Given the description of an element on the screen output the (x, y) to click on. 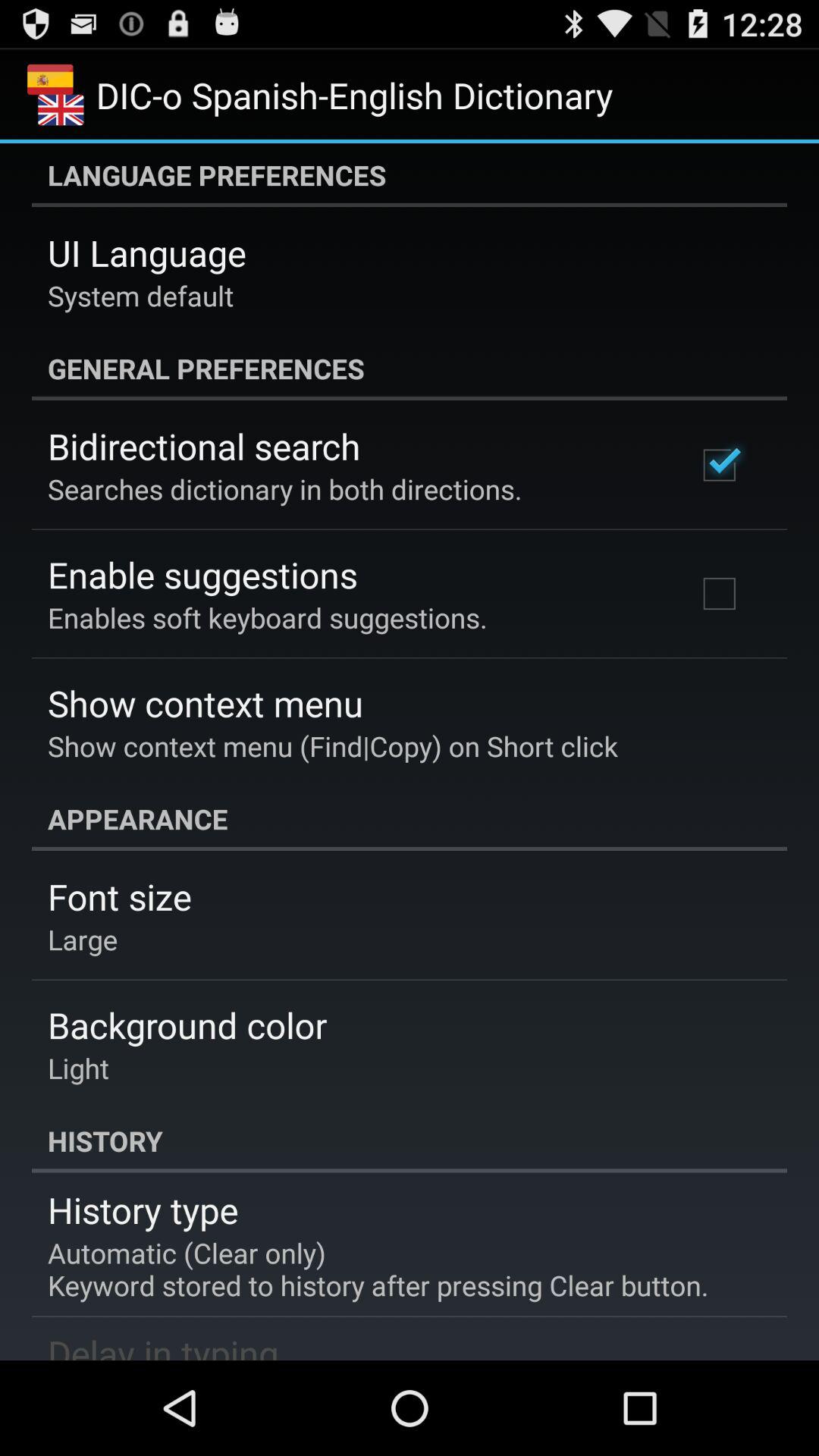
select language preferences icon (409, 175)
